Given the description of an element on the screen output the (x, y) to click on. 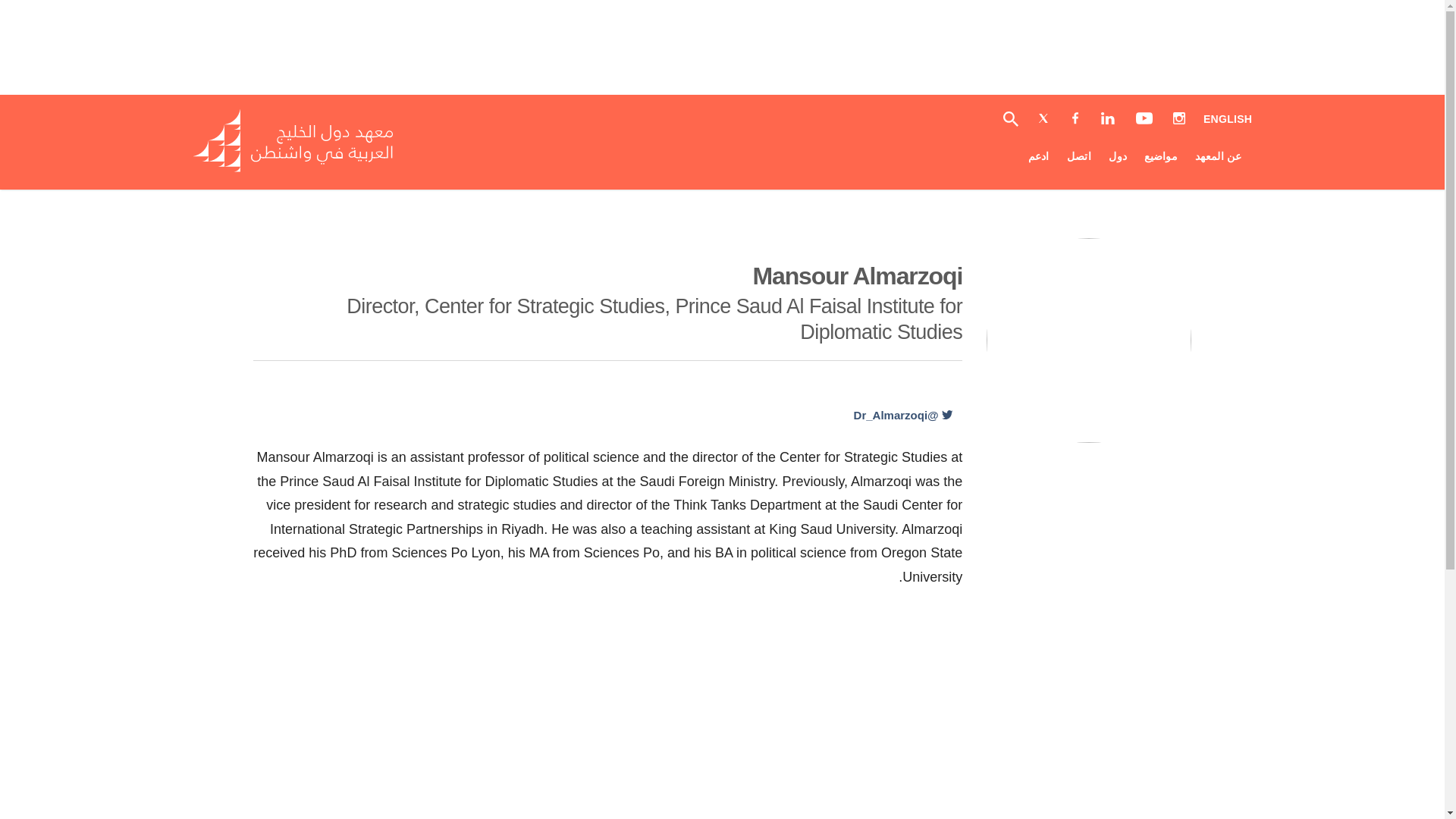
follow Mansour Almarzoqi on twitter (902, 414)
The Arab Gulf States Institute in Washington (1228, 119)
Search (307, 168)
